Given the description of an element on the screen output the (x, y) to click on. 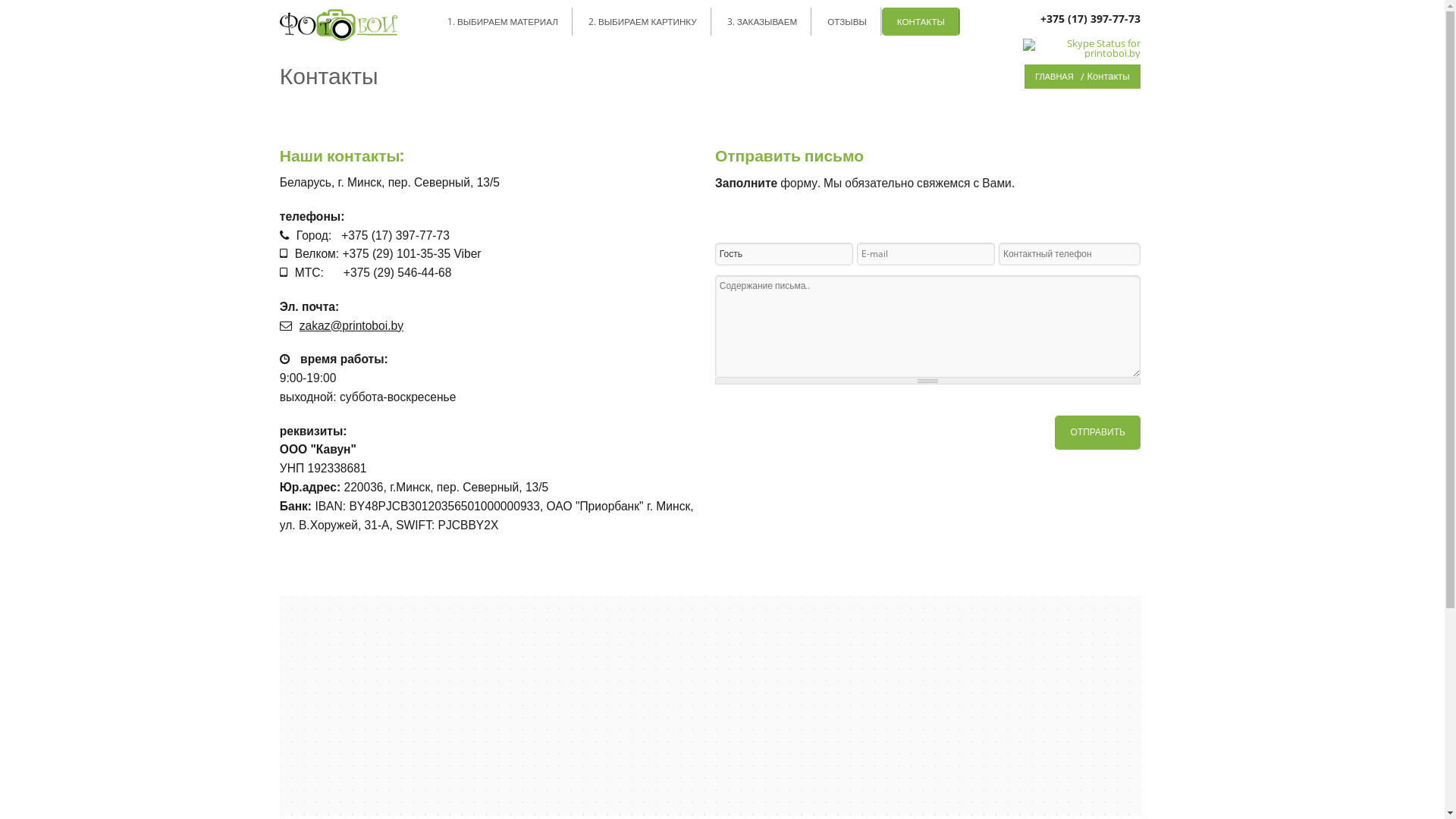
zakaz@printoboi.by Element type: text (351, 325)
